Given the description of an element on the screen output the (x, y) to click on. 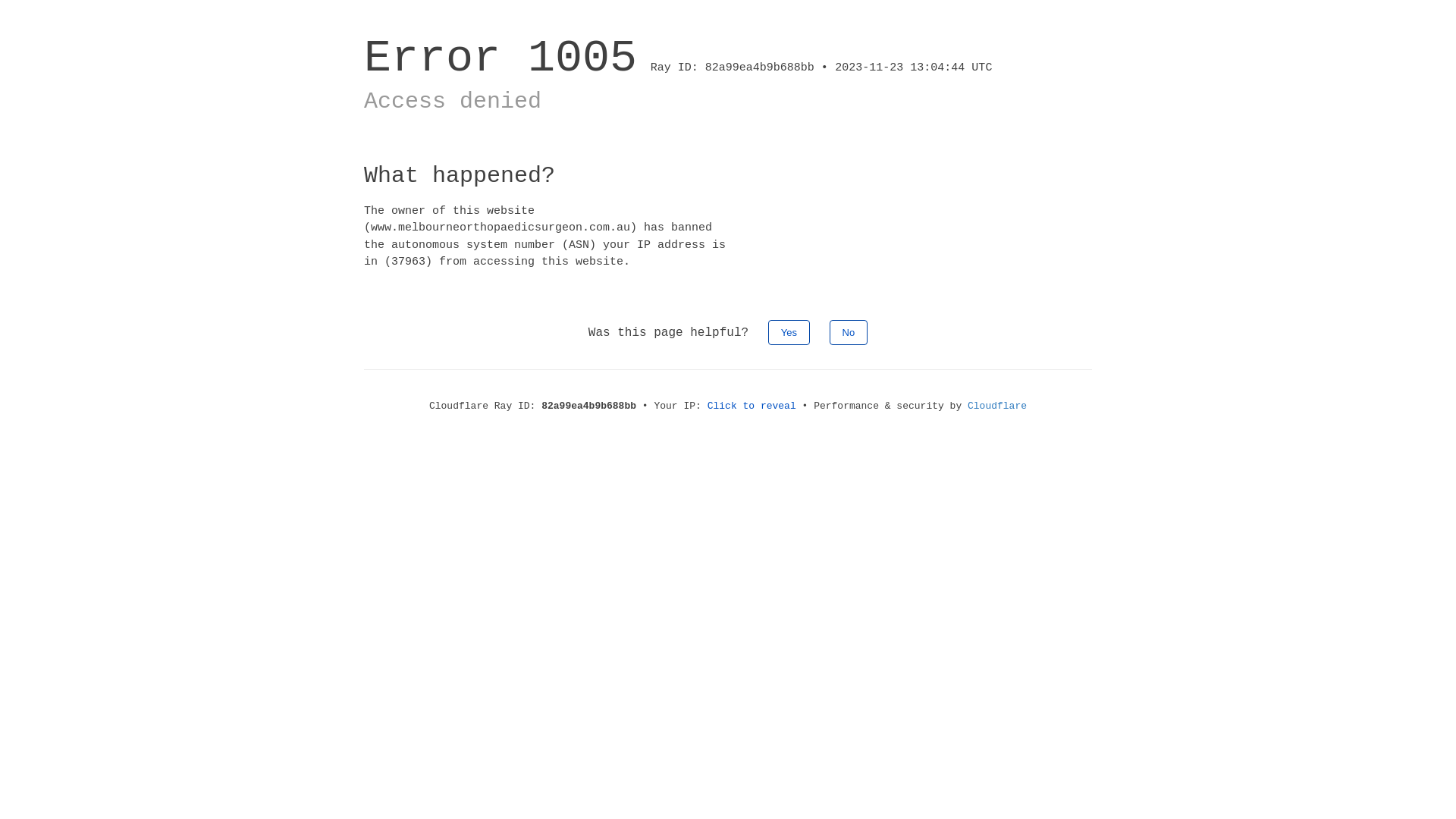
Click to reveal Element type: text (751, 405)
Yes Element type: text (788, 332)
No Element type: text (848, 332)
Cloudflare Element type: text (996, 405)
